Given the description of an element on the screen output the (x, y) to click on. 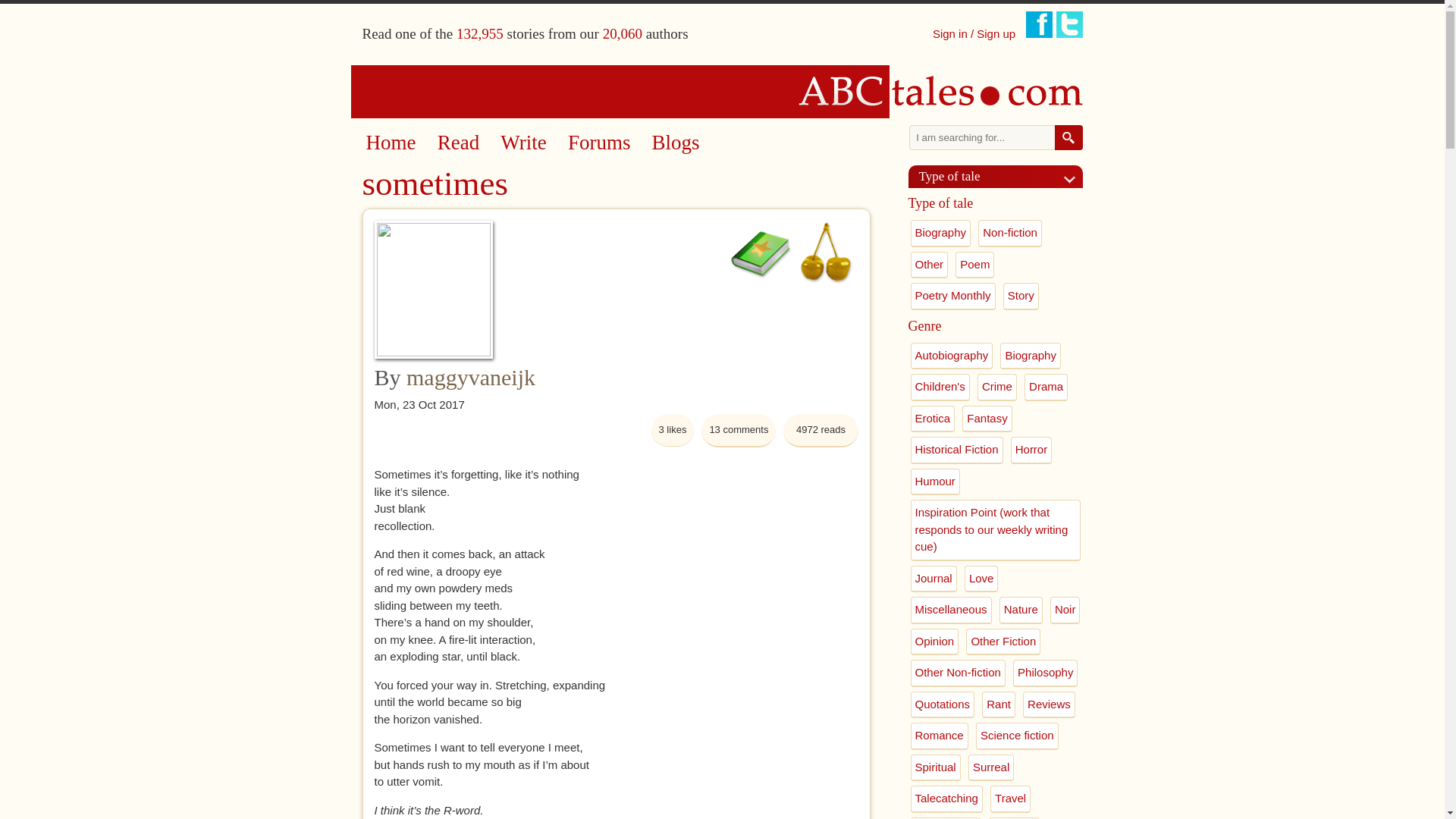
Blogs (676, 142)
Forums (598, 142)
Read (458, 142)
Write (523, 142)
Poem of the week (761, 252)
Gold cherry (825, 252)
maggyvaneijk (470, 376)
Home (389, 142)
Home (722, 91)
